Given the description of an element on the screen output the (x, y) to click on. 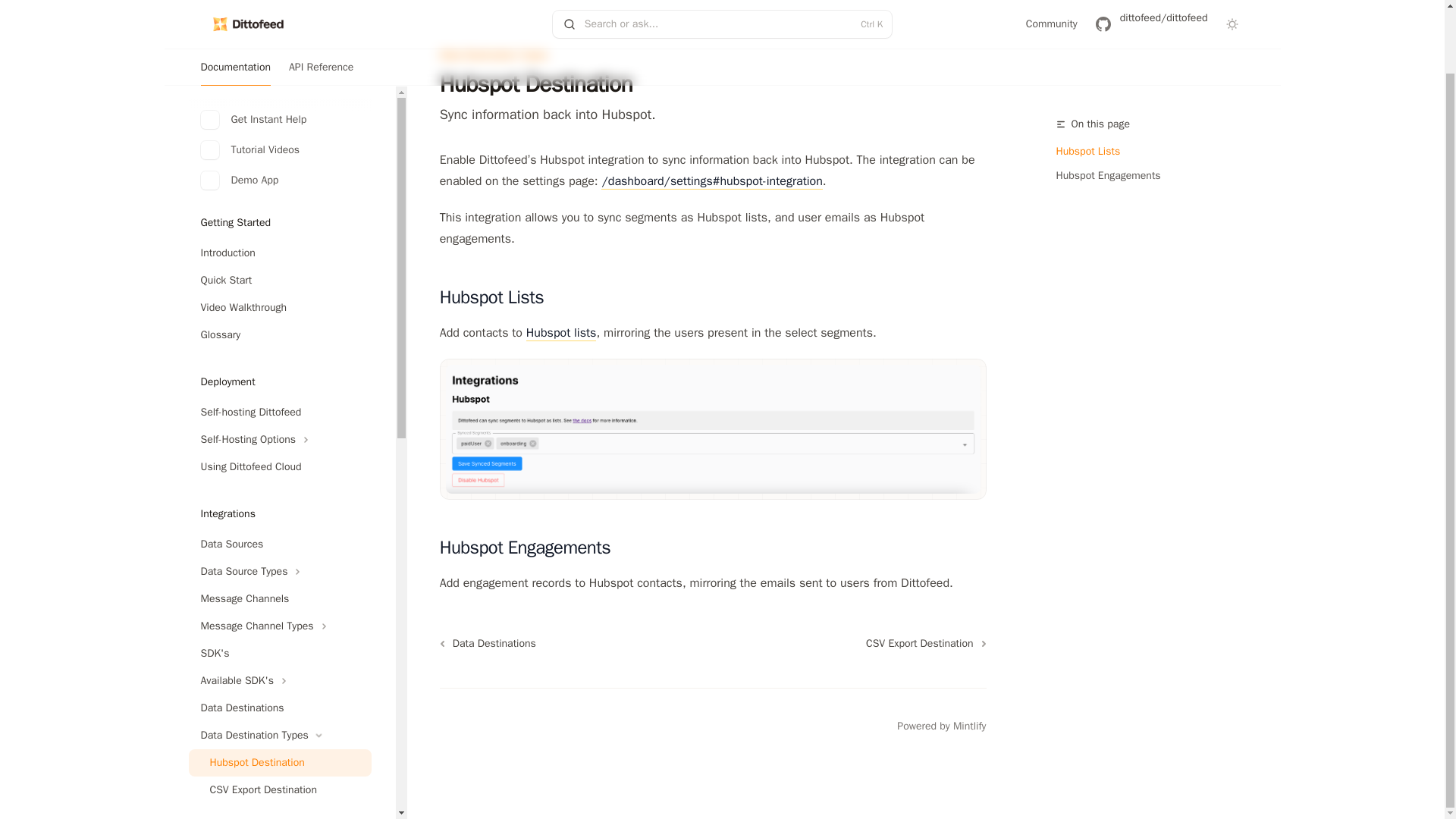
Tutorial Videos (279, 81)
CSV Export Destination (279, 720)
SDK's (279, 584)
Get Instant Help (279, 50)
API Reference (320, 7)
Data Sources (279, 474)
Message Channels (279, 529)
Quick Start (279, 211)
Resources (279, 798)
Glossary (279, 266)
Using Dittofeed Cloud (279, 397)
Introduction (279, 184)
Documentation (235, 7)
Video Walkthrough (279, 238)
Hubspot Destination (279, 693)
